Given the description of an element on the screen output the (x, y) to click on. 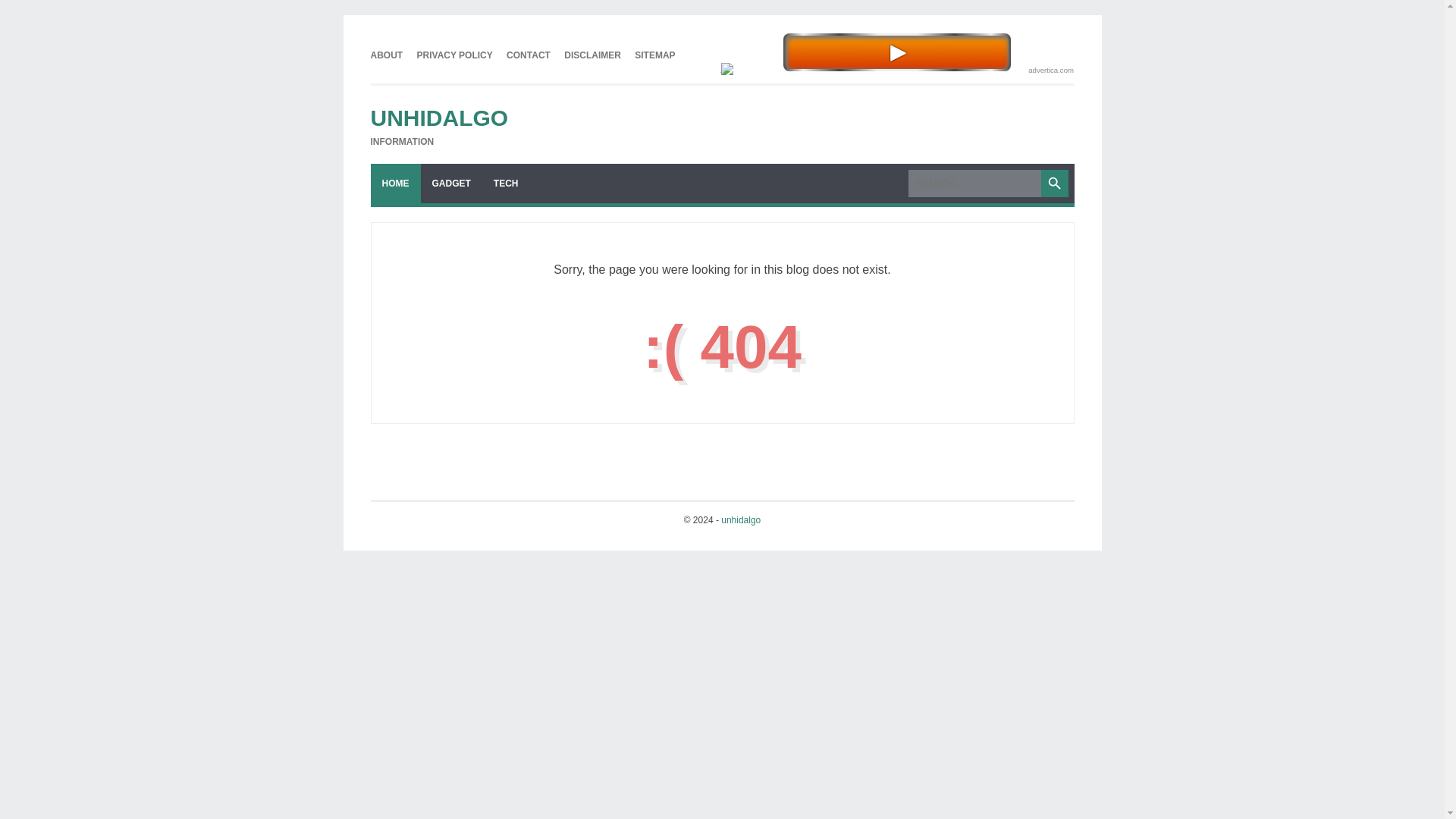
ABOUT (386, 55)
UNHIDALGO (438, 117)
SITEMAP (654, 55)
unhidalgo (740, 520)
unhidalgo (438, 117)
Search... (974, 183)
GADGET (450, 183)
PRIVACY POLICY (454, 55)
TECH (505, 183)
CONTACT (528, 55)
